Given the description of an element on the screen output the (x, y) to click on. 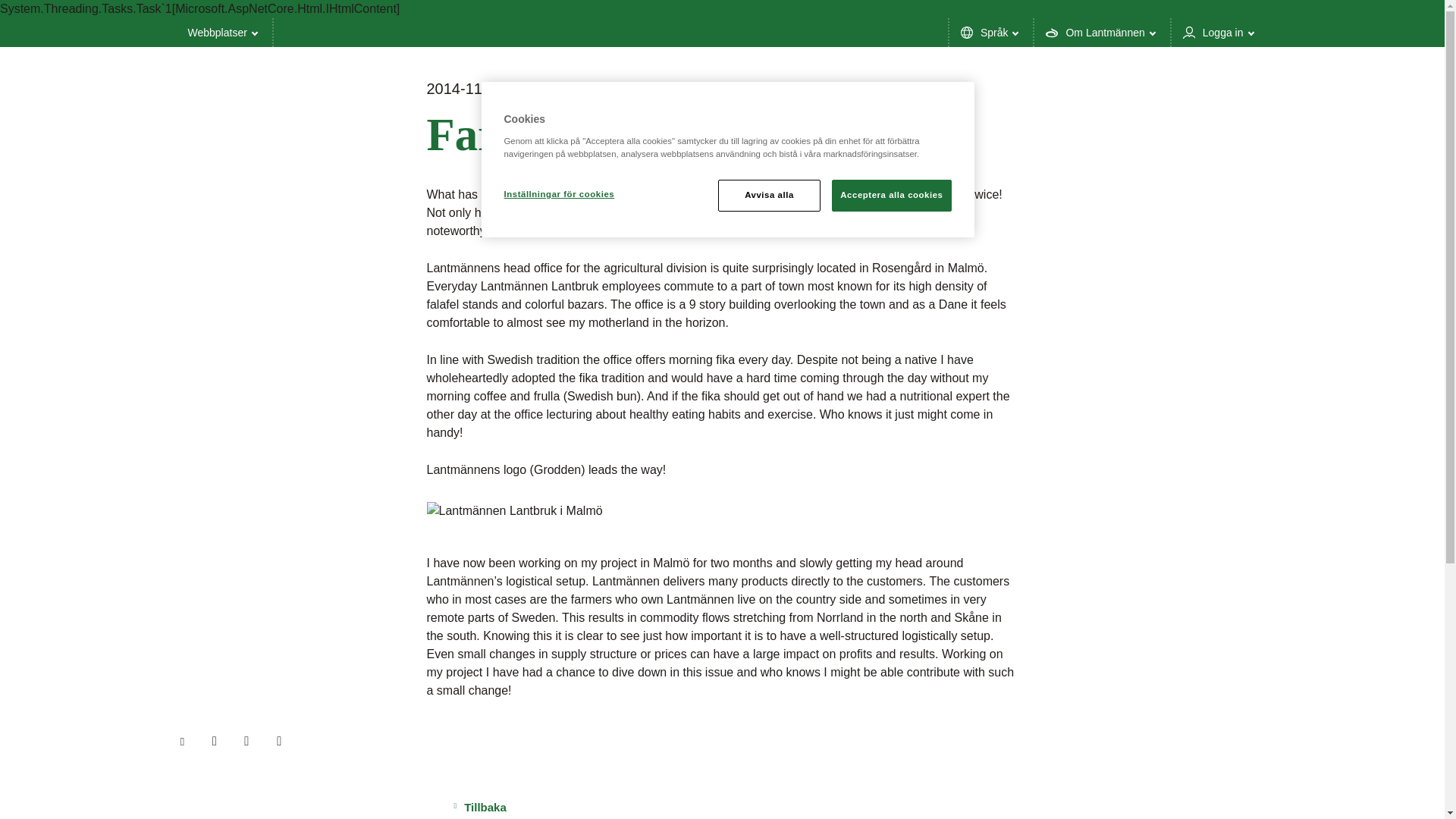
Logga in (1220, 32)
browse (223, 32)
about (1101, 32)
services (1220, 32)
Webbplatser (223, 32)
language (991, 32)
Tillbaka (478, 807)
